Given the description of an element on the screen output the (x, y) to click on. 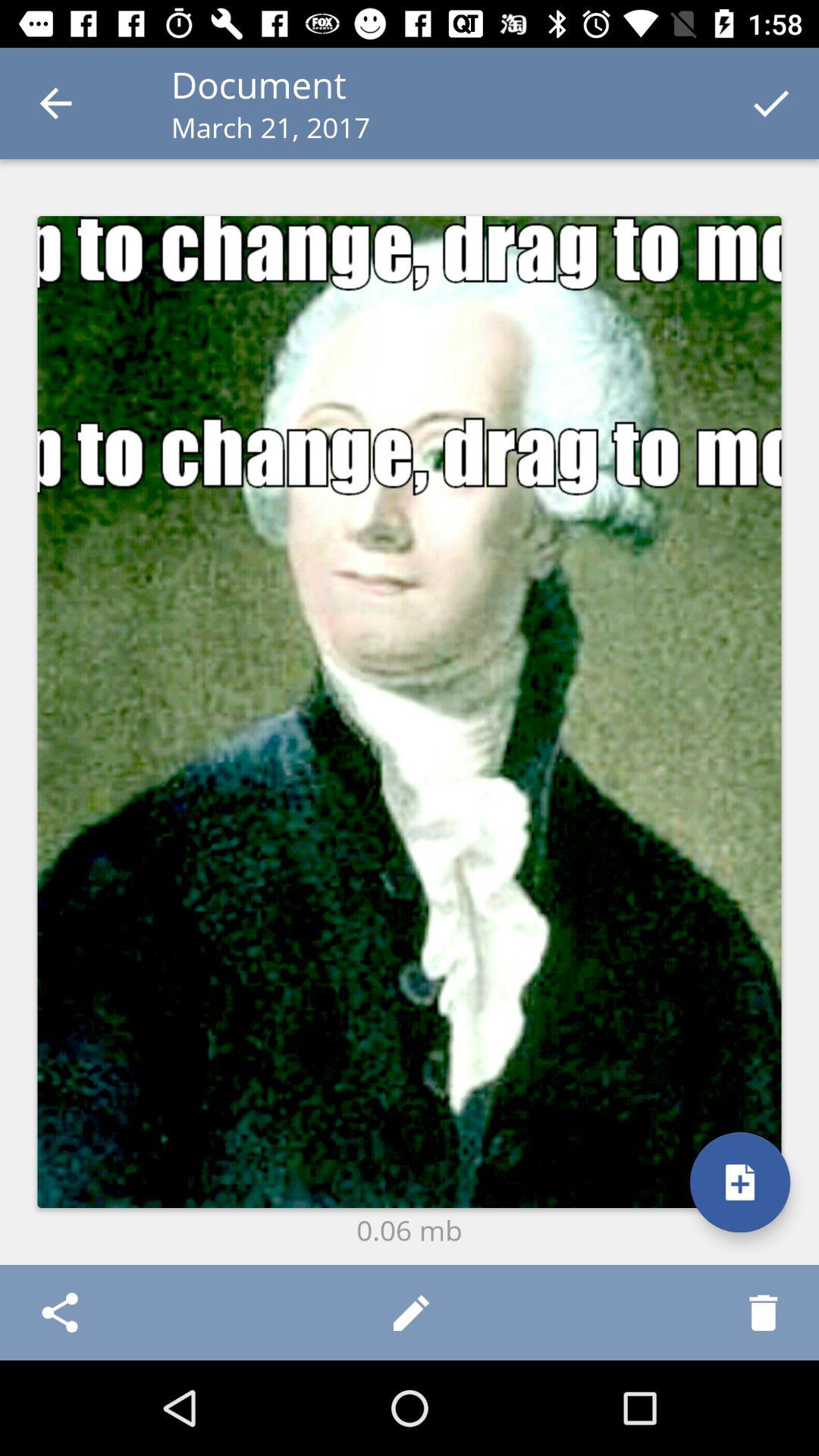
press the item to the right of march 21, 2017 icon (771, 103)
